Given the description of an element on the screen output the (x, y) to click on. 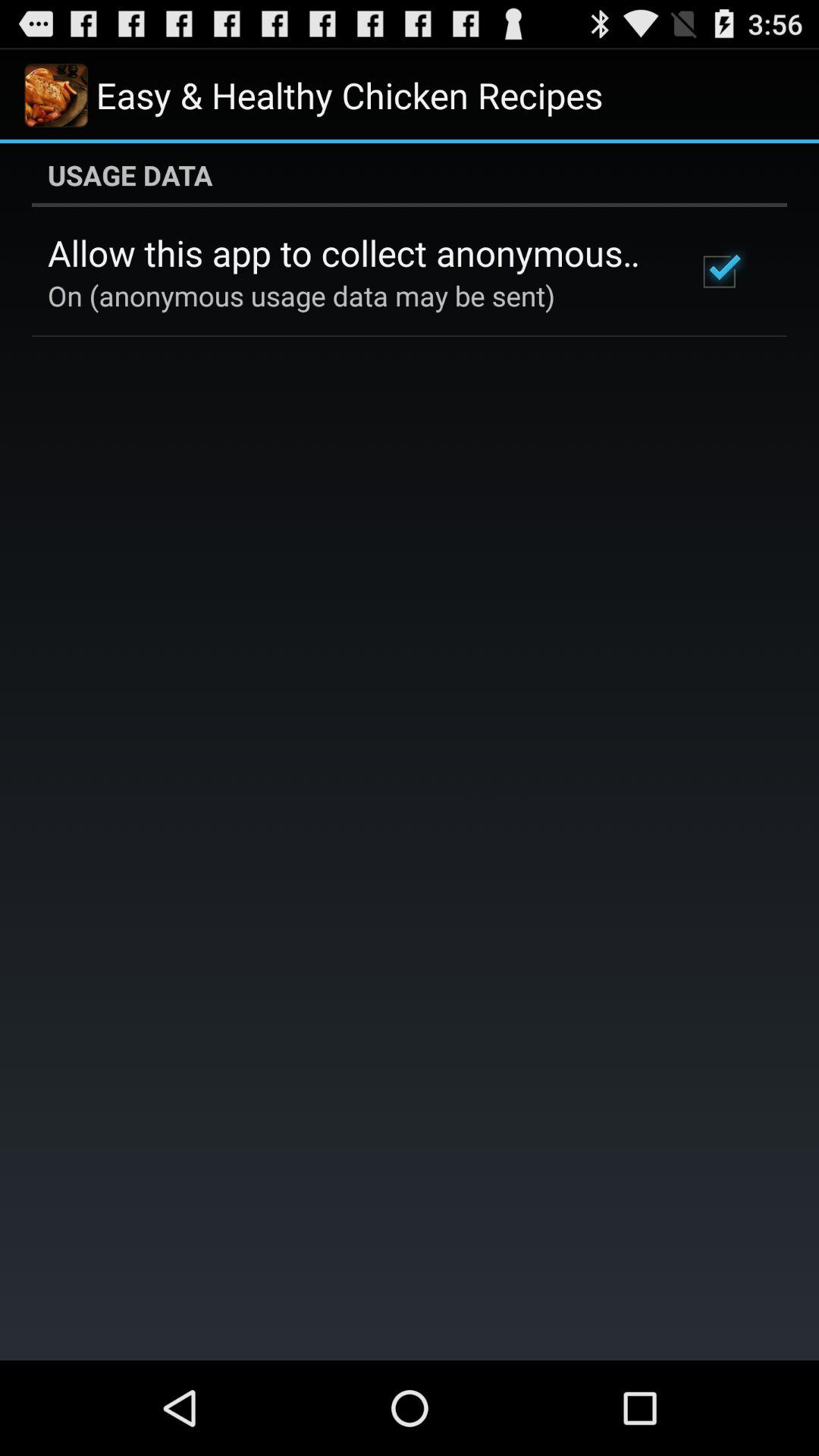
turn on the app next to the allow this app (719, 271)
